Given the description of an element on the screen output the (x, y) to click on. 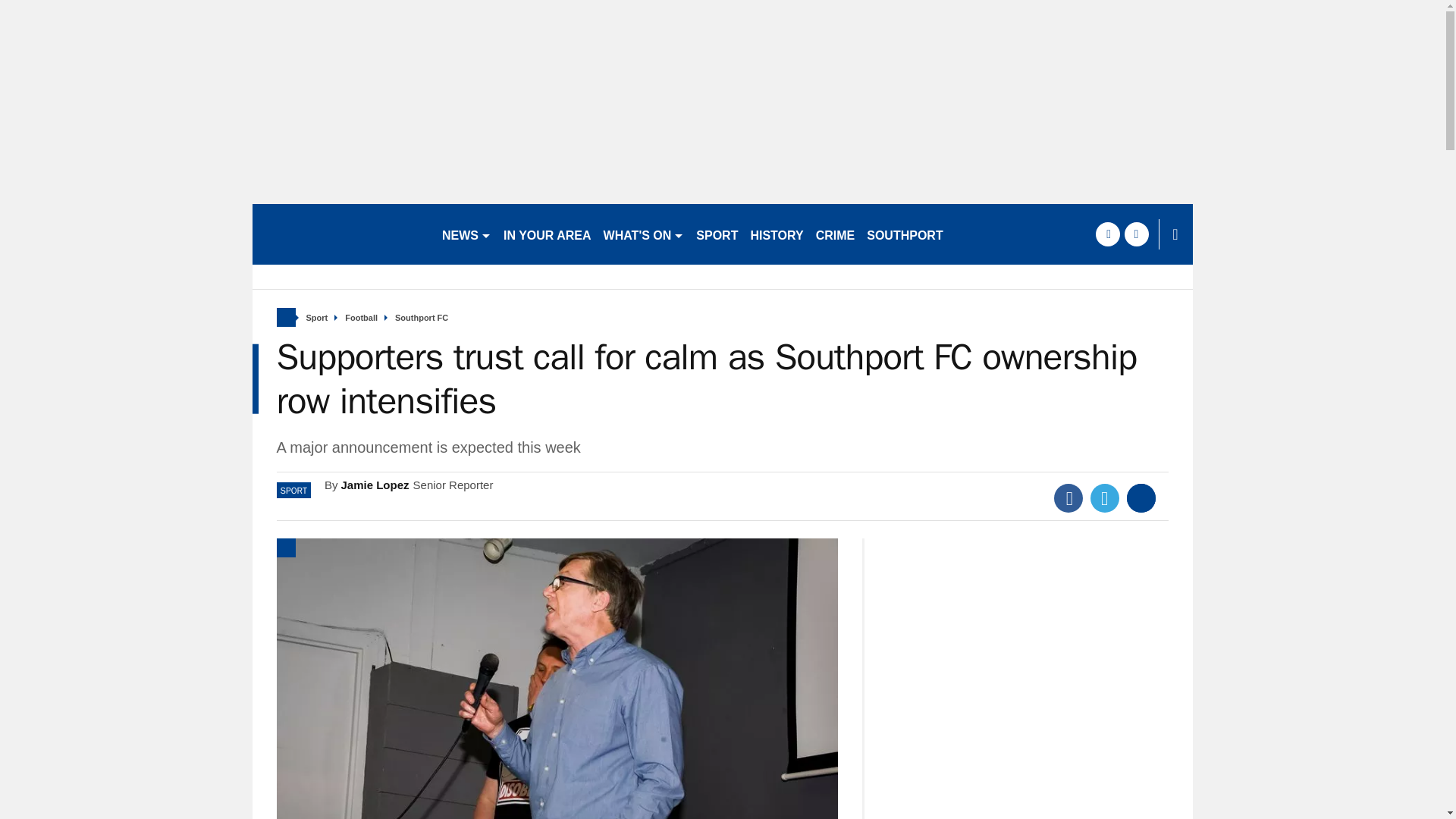
NEWS (466, 233)
Twitter (1104, 498)
twitter (1136, 233)
SOUTHPORT FC (914, 233)
WHAT'S ON (643, 233)
facebook (1106, 233)
IN YOUR AREA (546, 233)
HISTORY (776, 233)
Facebook (1068, 498)
southportvisiter (339, 233)
